Given the description of an element on the screen output the (x, y) to click on. 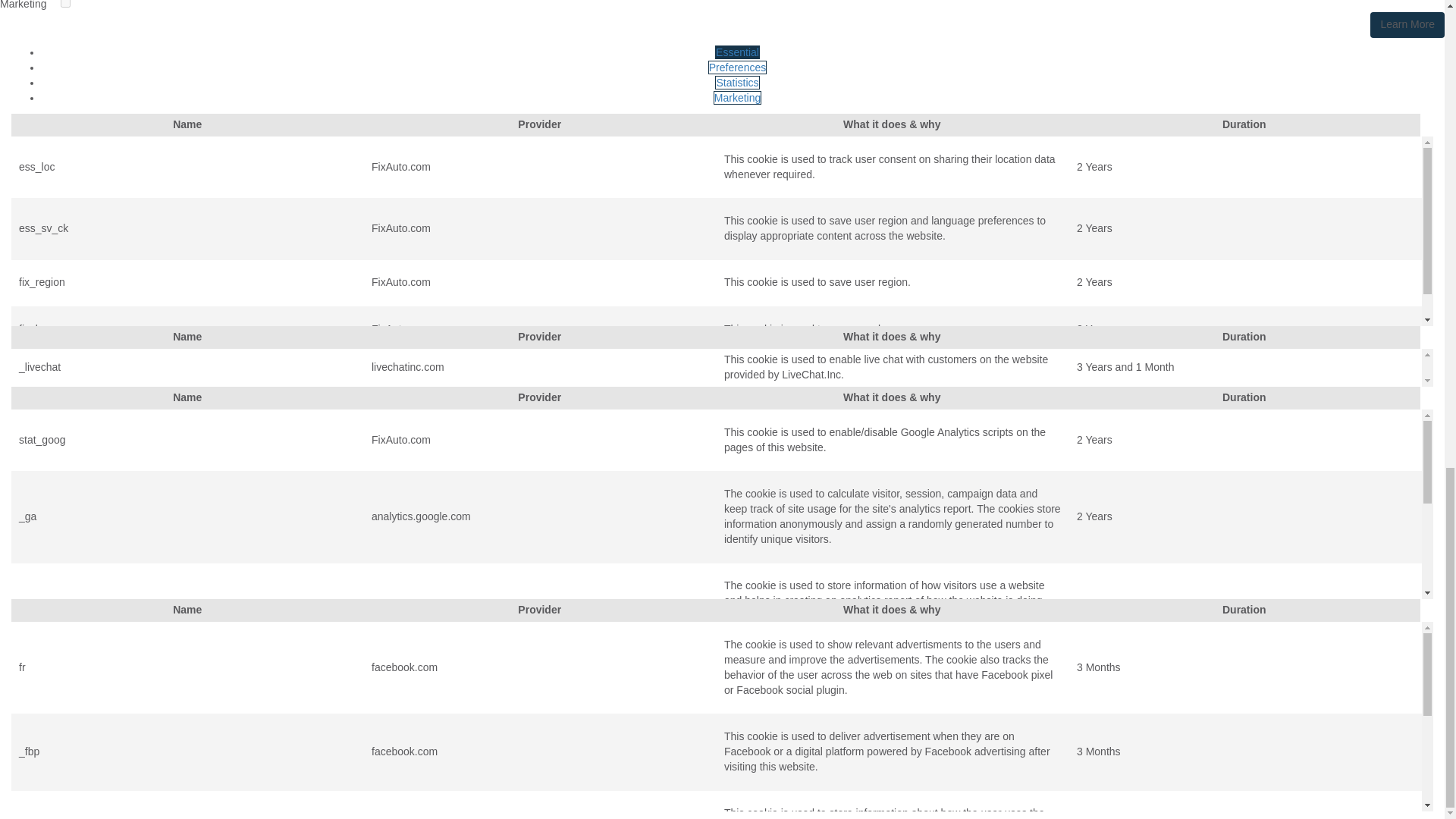
Statistics (736, 82)
Preferences (737, 67)
Essential (737, 51)
on (65, 3)
